Given the description of an element on the screen output the (x, y) to click on. 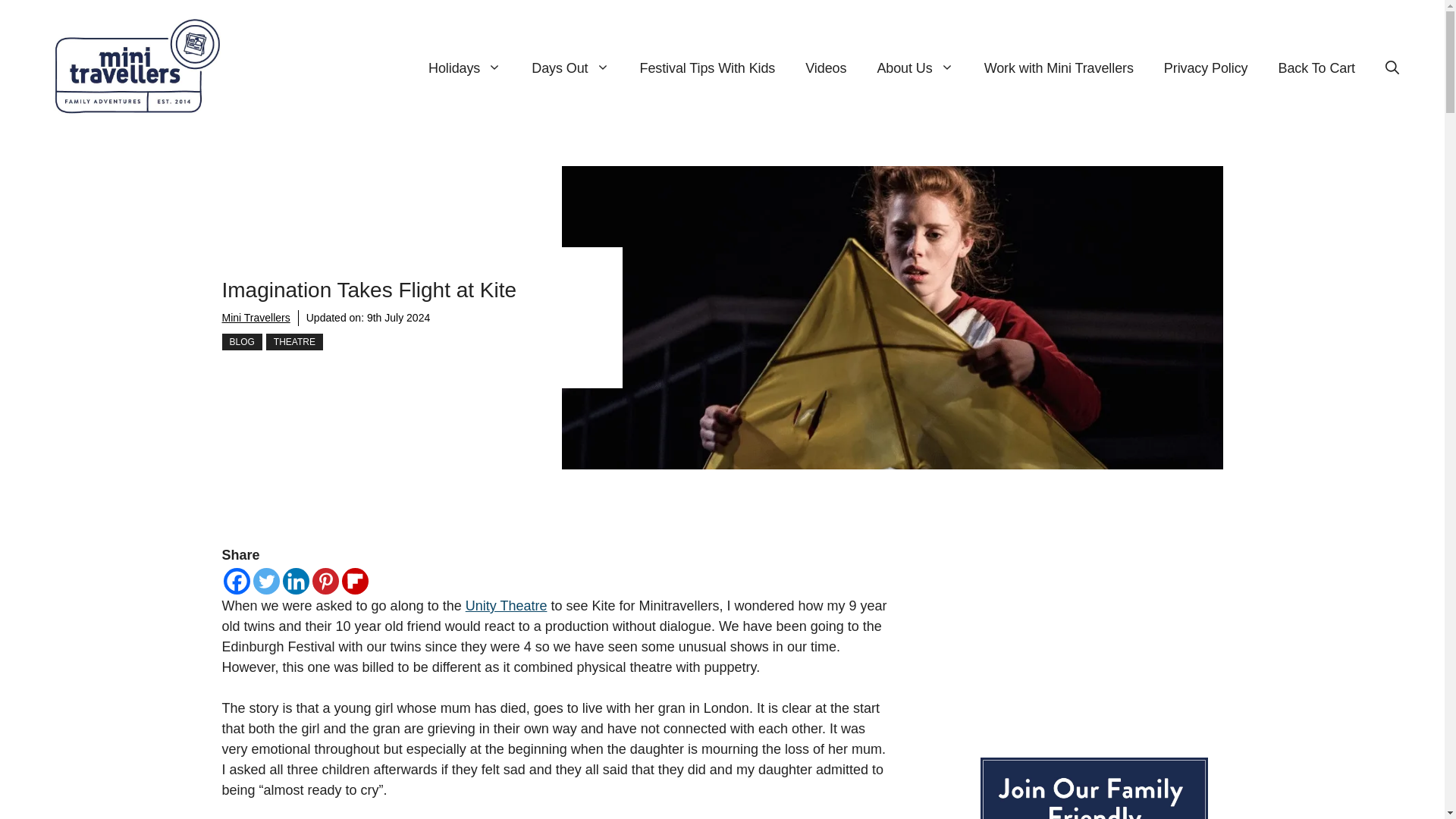
Days Out (570, 67)
Flipboard (354, 581)
Twitter (266, 581)
Pinterest (326, 581)
Facebook (235, 581)
Linkedin (295, 581)
Holidays (464, 67)
